Given the description of an element on the screen output the (x, y) to click on. 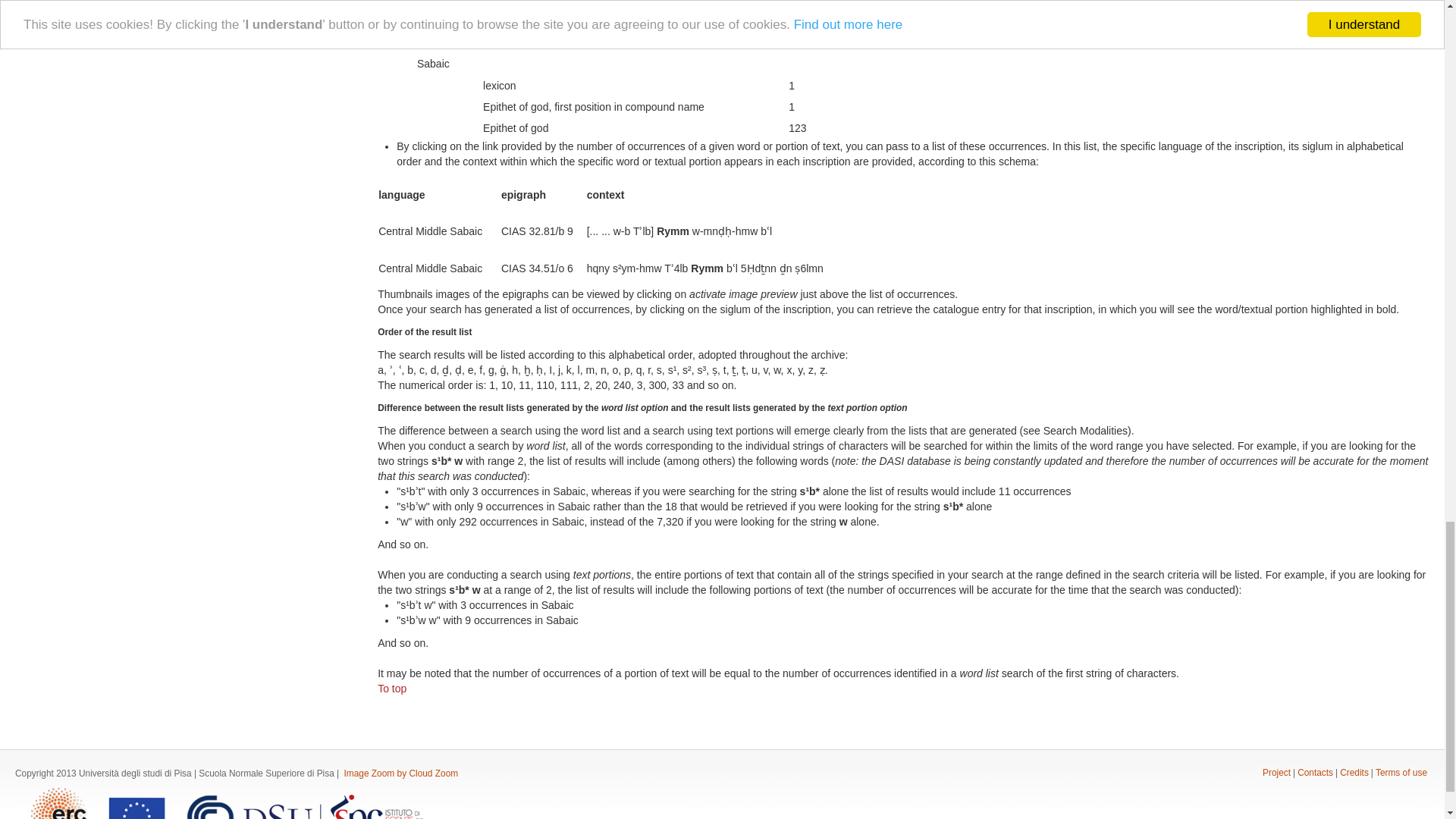
To top (391, 688)
Terms of use (1400, 772)
Contacts (1315, 772)
Project (1276, 772)
Credits (1353, 772)
Image Zoom by Cloud Zoom (400, 773)
